Given the description of an element on the screen output the (x, y) to click on. 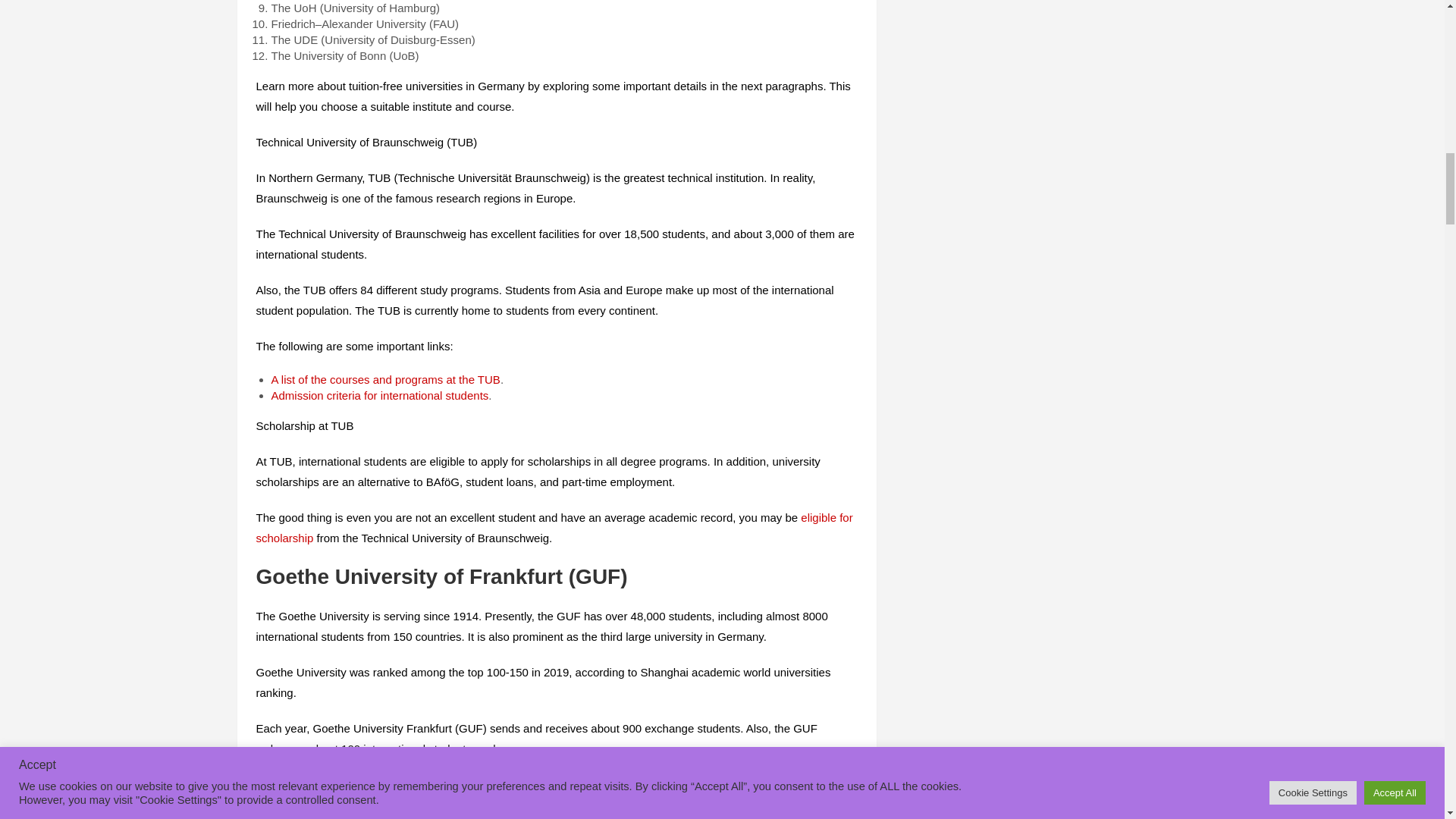
official website (807, 784)
Admission criteria for international students (379, 394)
eligible for scholarship (554, 527)
A list of the courses and programs at the TUB (385, 379)
